Given the description of an element on the screen output the (x, y) to click on. 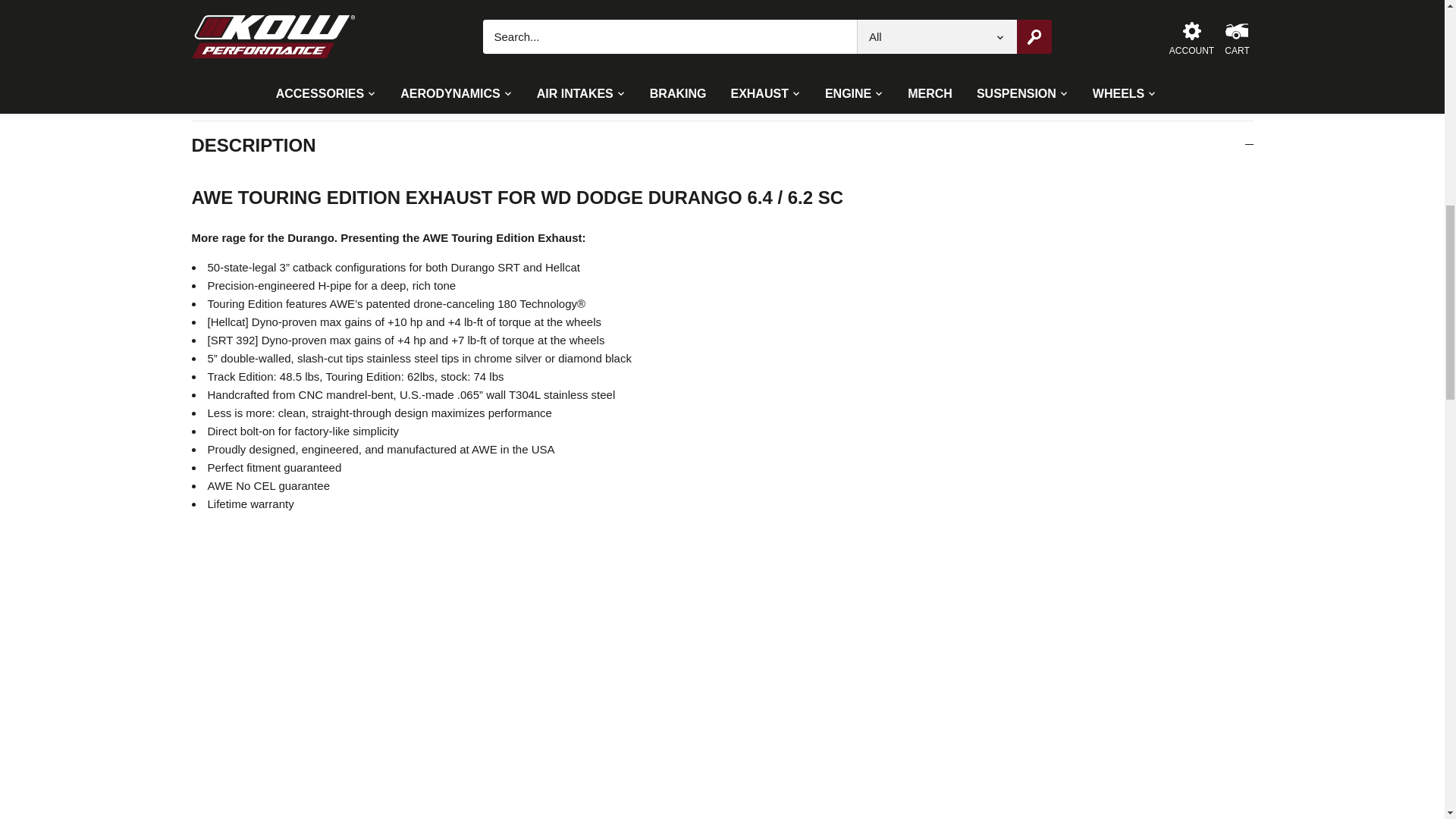
YouTube video player (402, 662)
Pinterest (821, 30)
International Orders (883, 3)
Facebook (781, 30)
Twitter (800, 30)
YouTube video player (402, 808)
